Given the description of an element on the screen output the (x, y) to click on. 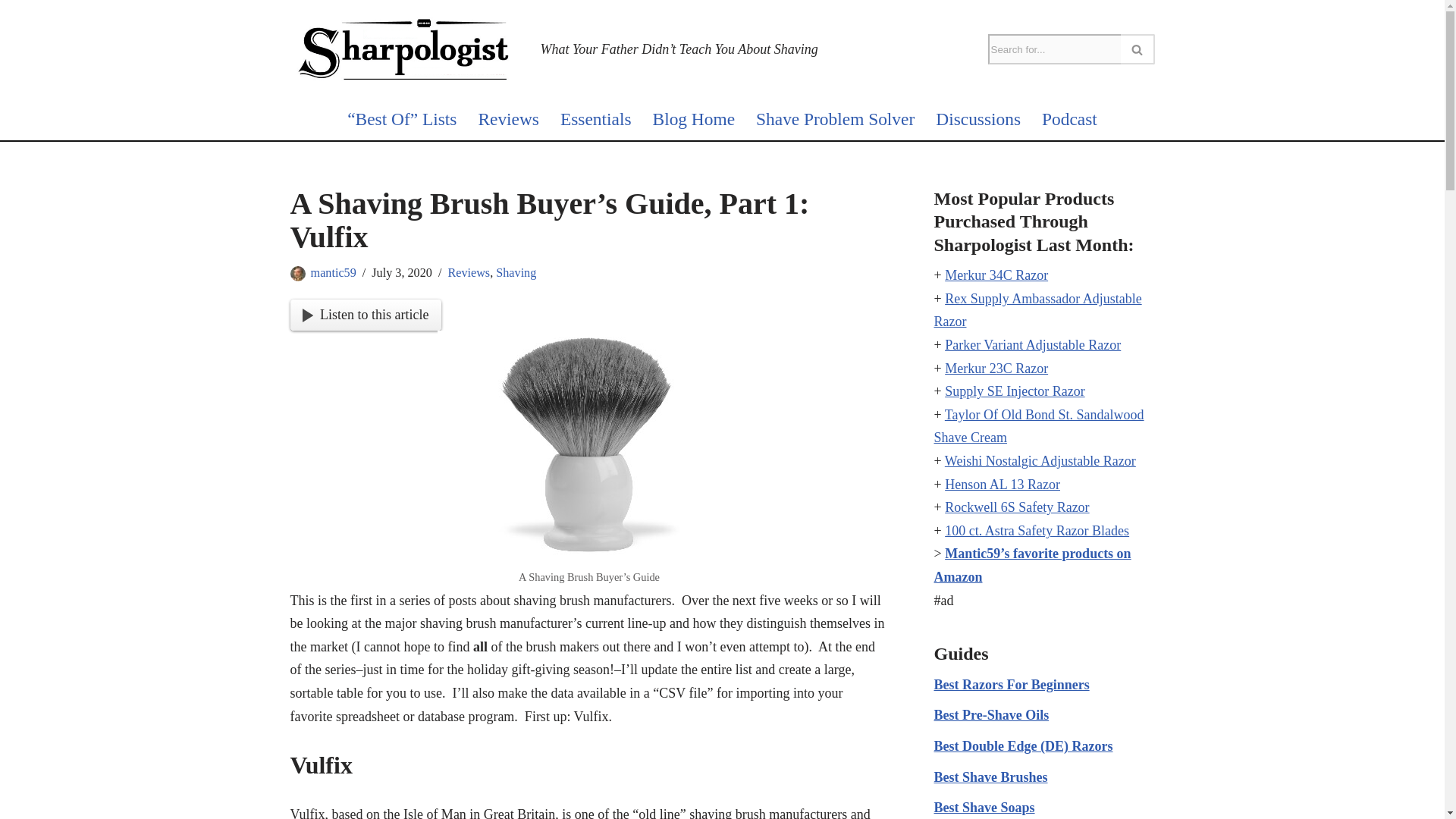
Blog Home (693, 118)
Podcast (1069, 118)
mantic59 (333, 272)
Reviews (507, 118)
Discussions (978, 118)
Shaving (515, 272)
Essentials (595, 118)
Skip to content (11, 31)
Posts by mantic59 (333, 272)
Shave Problem Solver (834, 118)
g3a (589, 443)
Reviews (467, 272)
